Given the description of an element on the screen output the (x, y) to click on. 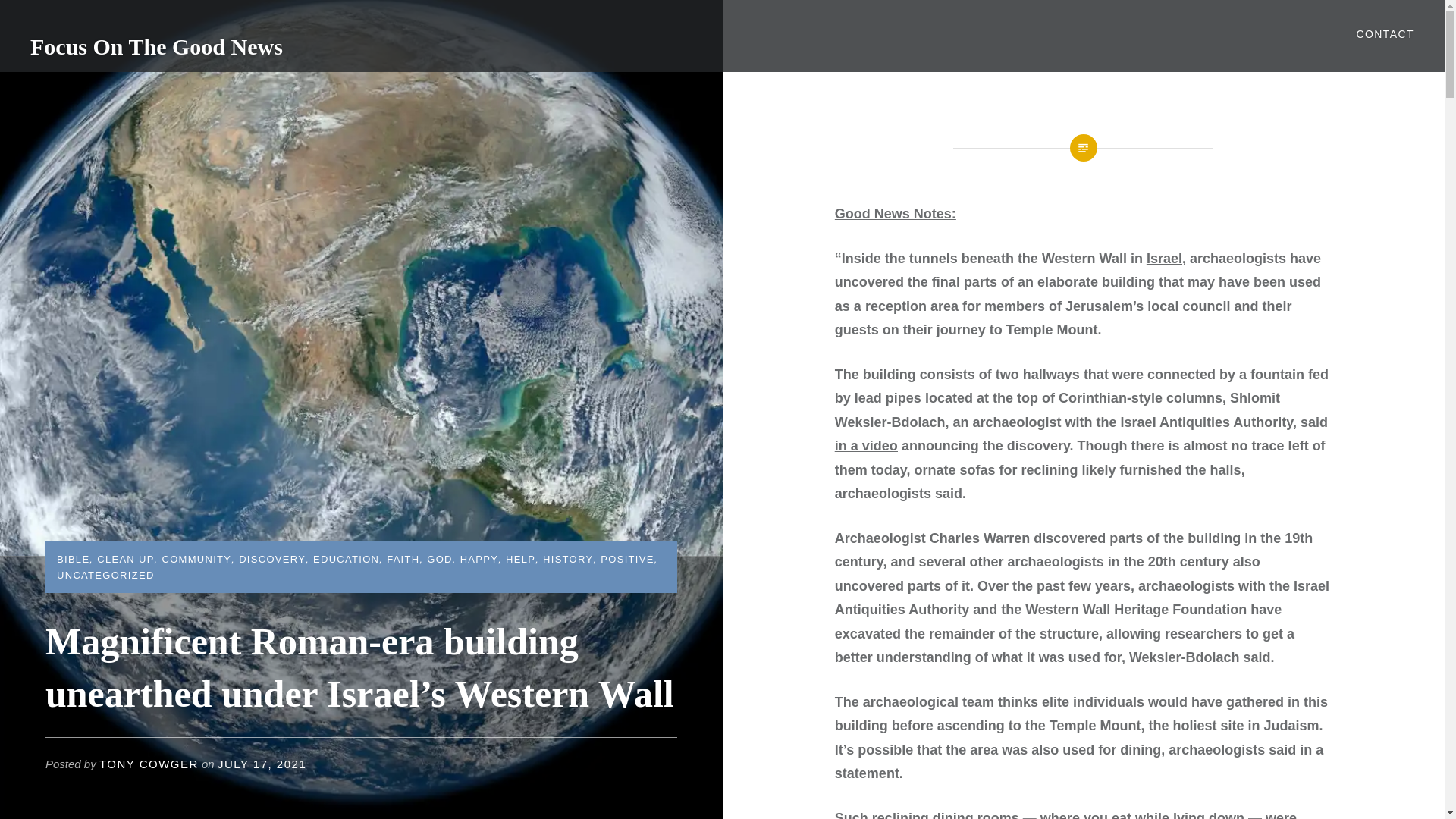
POSITIVE (626, 559)
Israel (1164, 258)
HELP (520, 559)
BIBLE (72, 559)
Good News Notes: (895, 213)
Focus On The Good News (156, 46)
COMMUNITY (196, 559)
DISCOVERY (271, 559)
HAPPY (479, 559)
GOD (439, 559)
HISTORY (567, 559)
CLEAN UP (125, 559)
TONY COWGER (148, 763)
said in a video (1080, 434)
CONTACT (1384, 34)
